Given the description of an element on the screen output the (x, y) to click on. 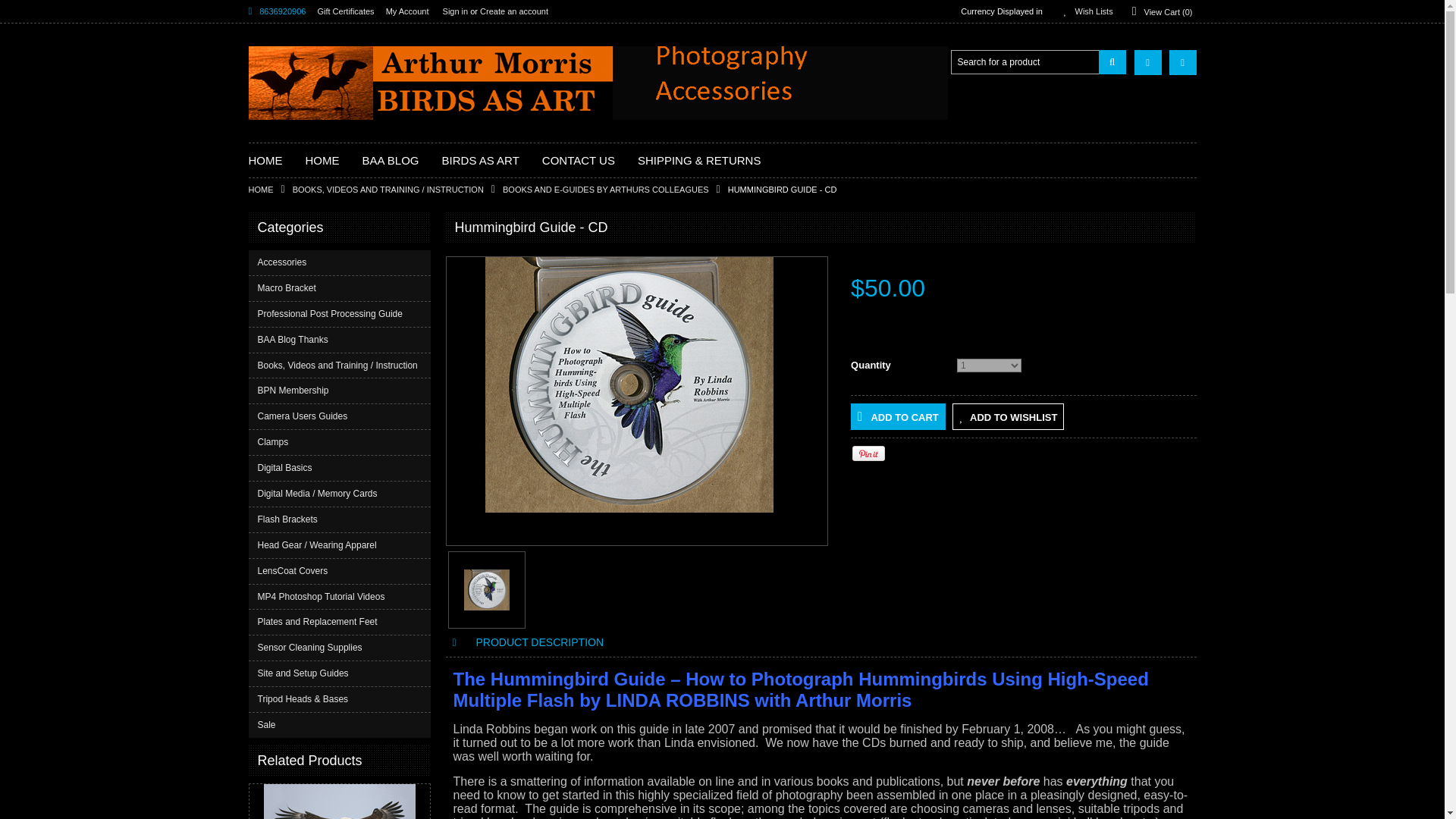
My Account (407, 10)
Clamps (339, 442)
Image 1 (486, 589)
Camera Users Guides (339, 416)
Macro Bracket (339, 288)
BOOKS AND E-GUIDES BY ARTHURS COLLEAGUES (615, 189)
BAA BLOG (390, 160)
BIRDS AS ART (480, 160)
Sign in (455, 11)
HOME (321, 160)
Image 1 (628, 384)
View Cart (1182, 62)
BAA Blog Thanks (339, 339)
Create an account (514, 11)
HOME (270, 189)
